Given the description of an element on the screen output the (x, y) to click on. 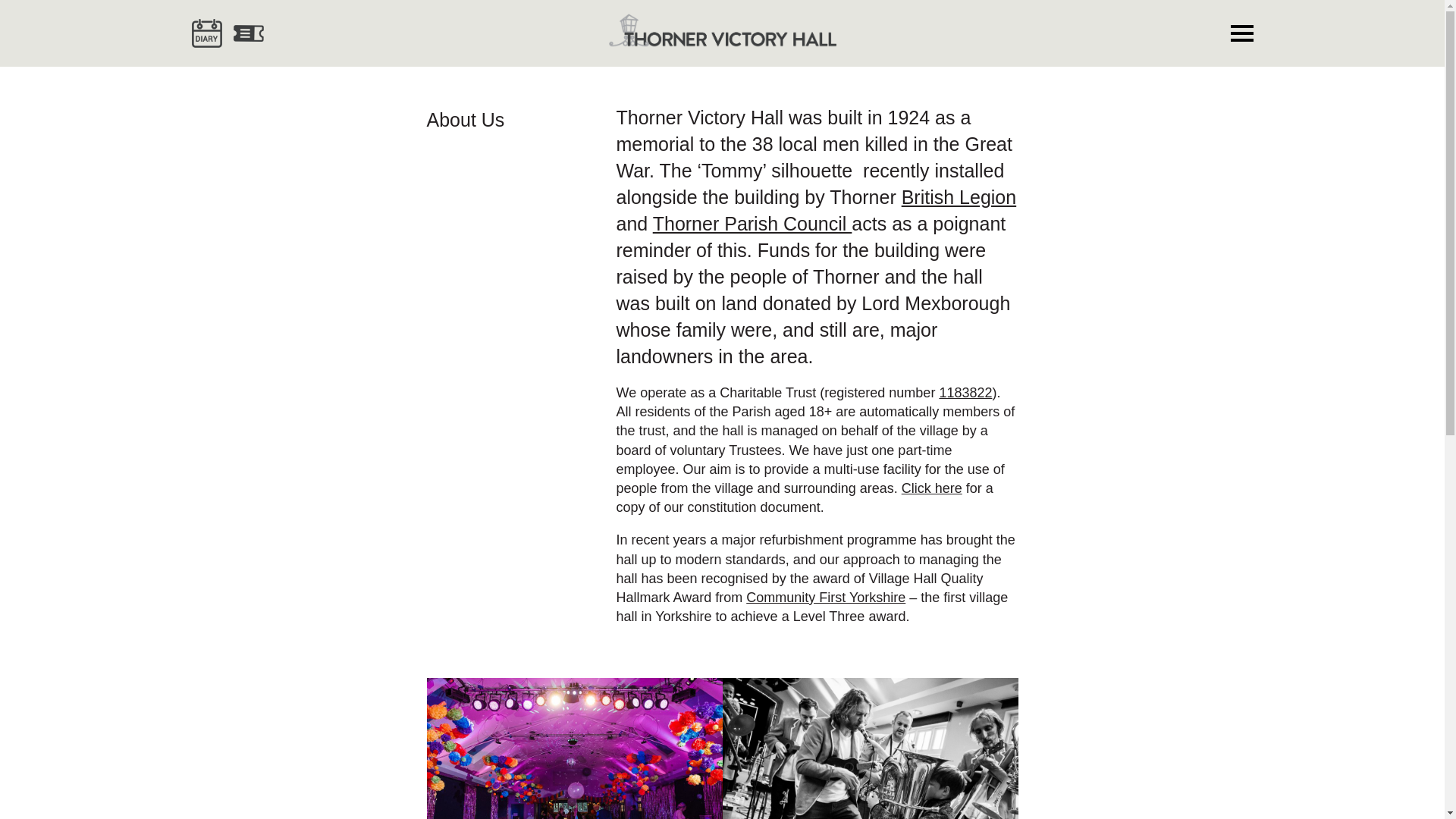
Community First Yorkshire (825, 597)
British Legion (958, 197)
1183822 (965, 392)
Click here (931, 488)
Thorner Parish Council  (751, 223)
